Given the description of an element on the screen output the (x, y) to click on. 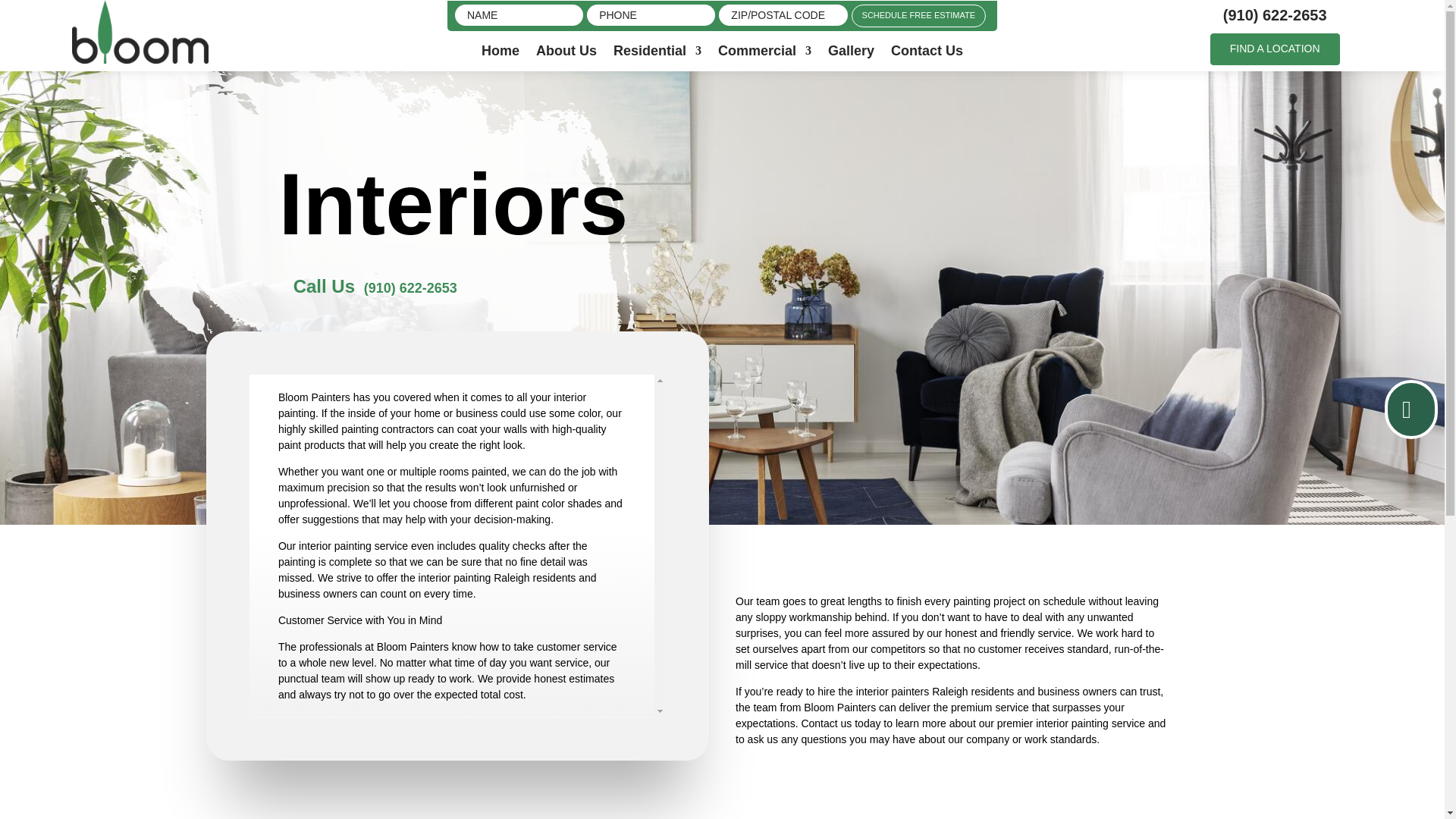
About Us (565, 53)
bloom-logo (139, 31)
Home (500, 53)
Residential (656, 53)
SCHEDULE FREE ESTIMATE (919, 15)
